Given the description of an element on the screen output the (x, y) to click on. 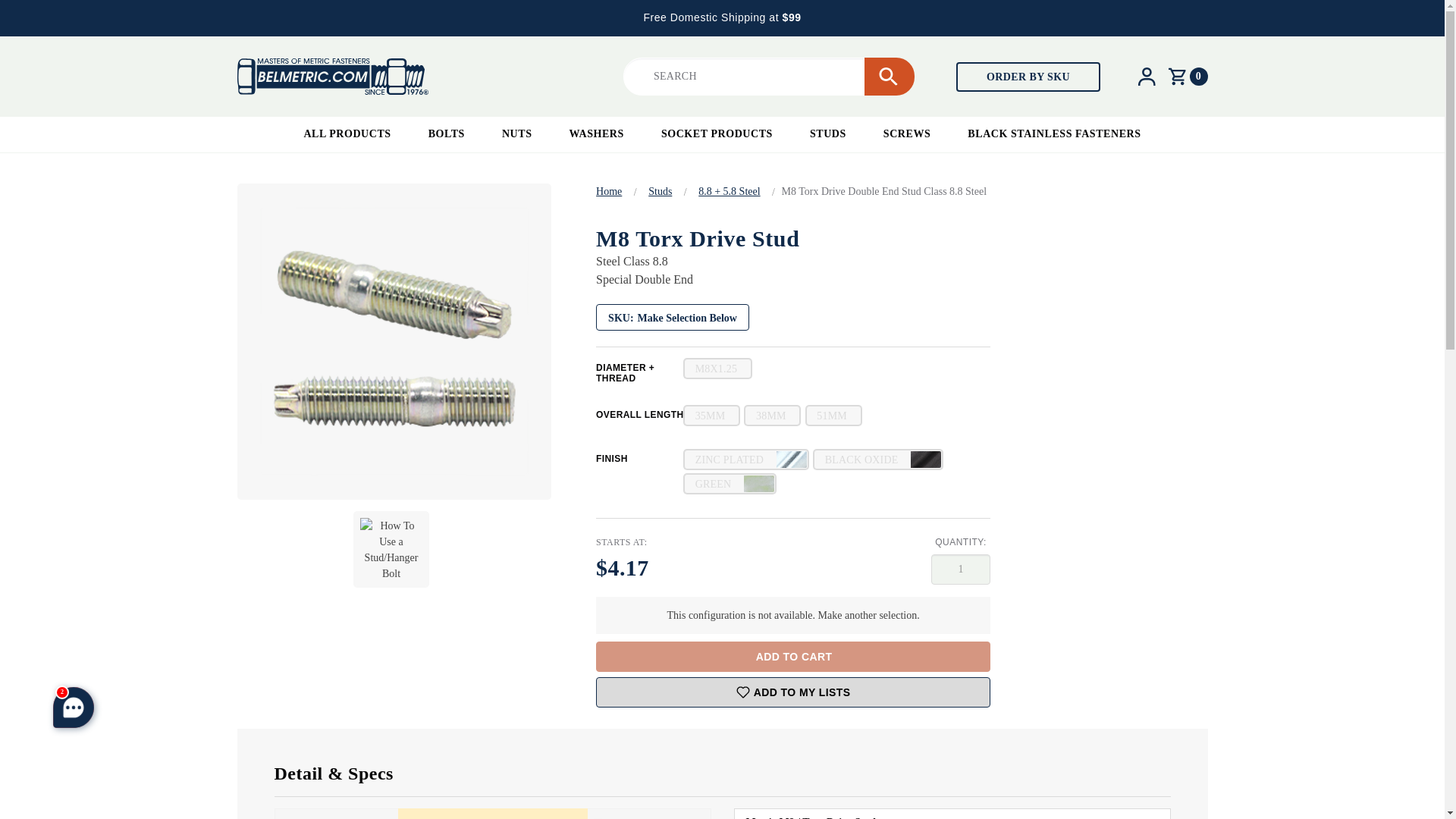
0 (1188, 76)
ALL PRODUCTS (347, 134)
Add to Cart (792, 656)
M8 Torx Drive Double End Stud Class 8.8 Steel (393, 341)
ORDER BY SKU (1028, 76)
BelMetric (331, 76)
1 (960, 569)
